Given the description of an element on the screen output the (x, y) to click on. 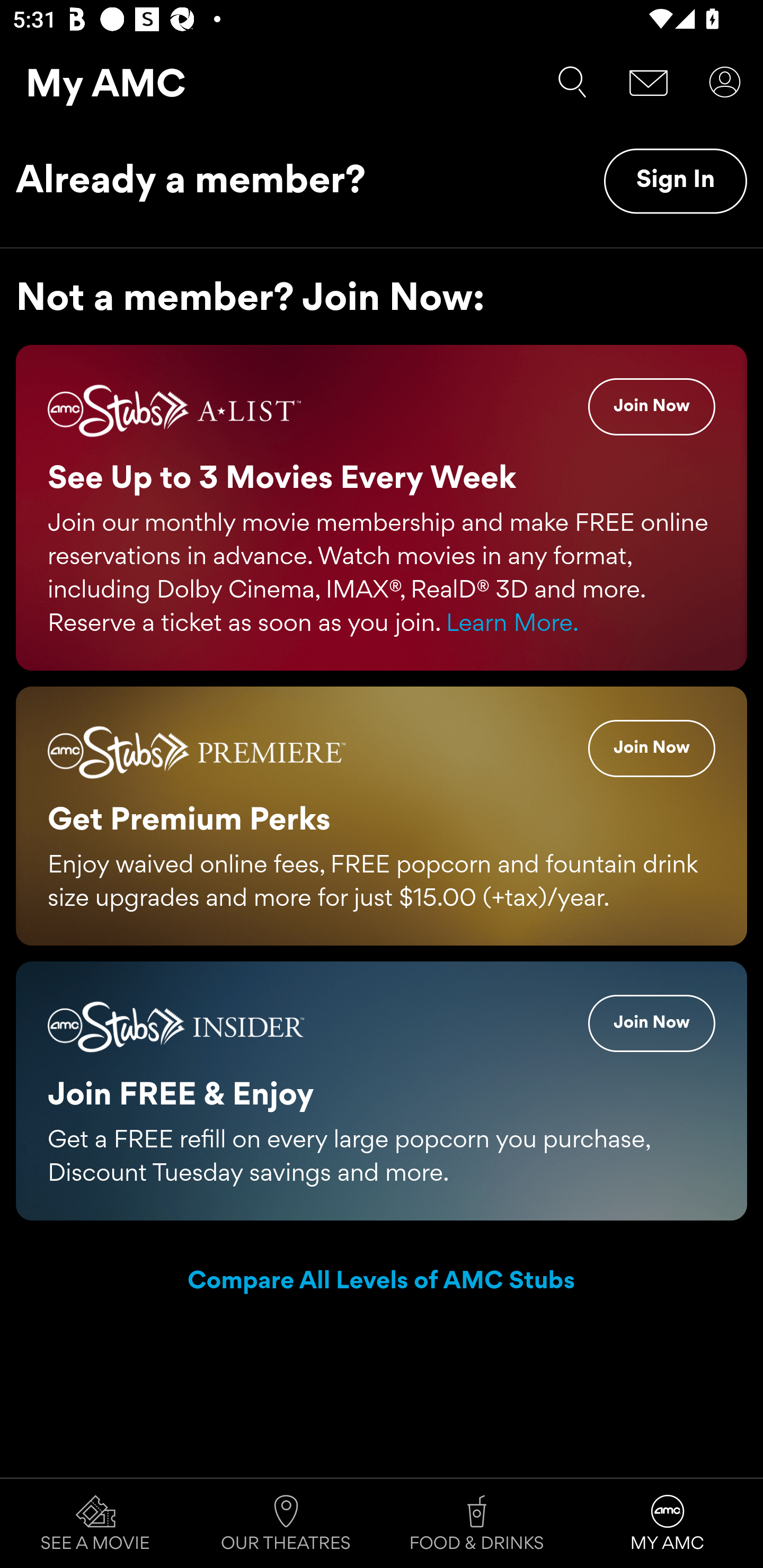
Search (572, 82)
Message Center (648, 82)
User Account (724, 82)
Sign In (675, 180)
A-List Join Now (651, 406)
Premiere Join Now (651, 748)
Insider Join Now (651, 1022)
Compare All Levels of AMC Stubs (381, 1282)
SEE A MOVIE
Tab 1 of 4 (95, 1523)
OUR THEATRES
Tab 2 of 4 (285, 1523)
FOOD & DRINKS
Tab 3 of 4 (476, 1523)
MY AMC
Tab 4 of 4 (667, 1523)
